Given the description of an element on the screen output the (x, y) to click on. 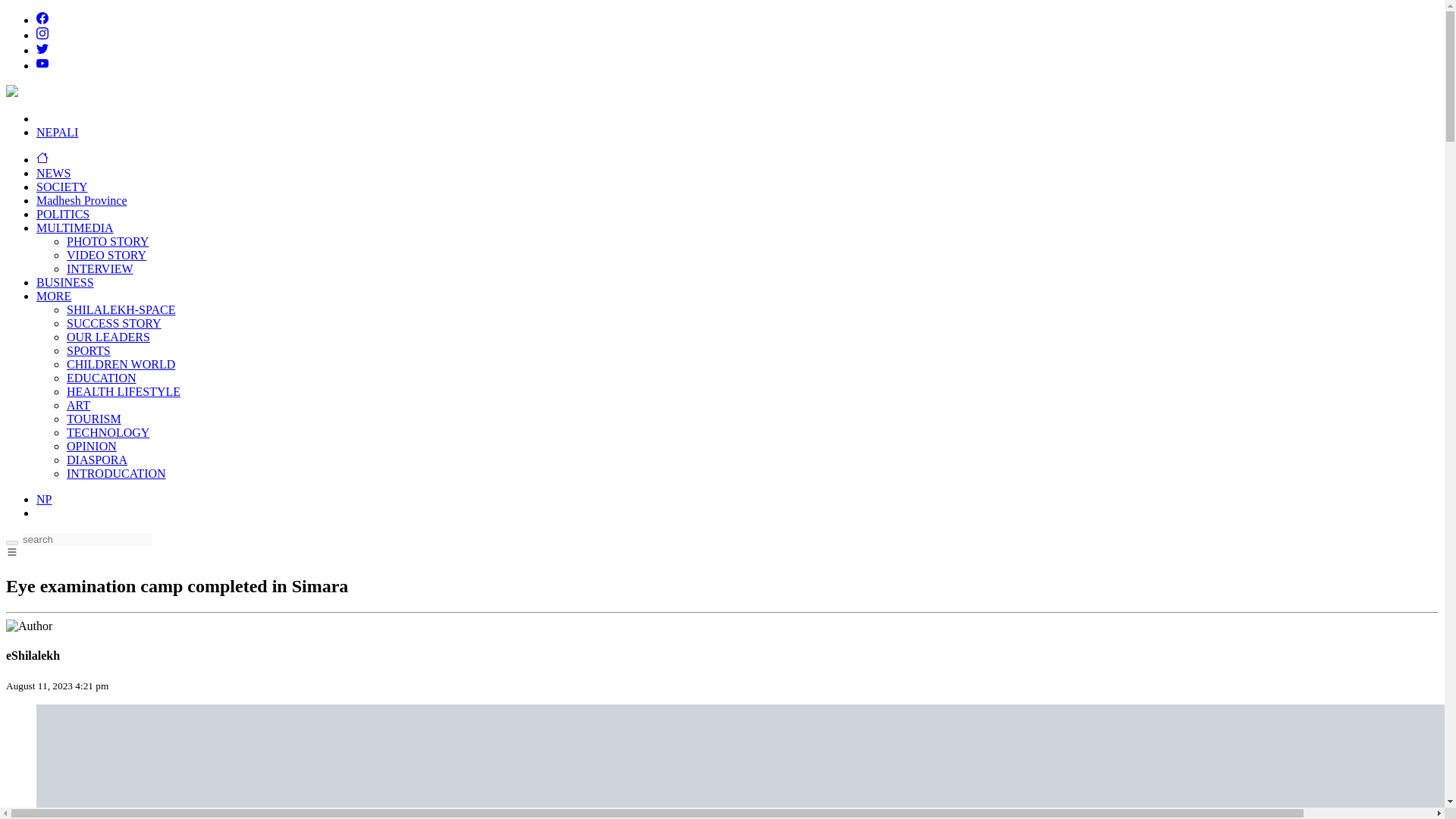
Madhesh Province (82, 200)
MULTIMEDIA (74, 227)
TECHNOLOGY (107, 431)
OPINION (91, 445)
NP (43, 499)
INTERVIEW (99, 268)
SPORTS (88, 350)
EDUCATION (101, 377)
TOURISM (93, 418)
SOCIETY (61, 186)
CHILDREN WORLD (120, 364)
VIDEO STORY (106, 254)
NEPALI (57, 132)
BUSINESS (65, 282)
DIASPORA (97, 459)
